Given the description of an element on the screen output the (x, y) to click on. 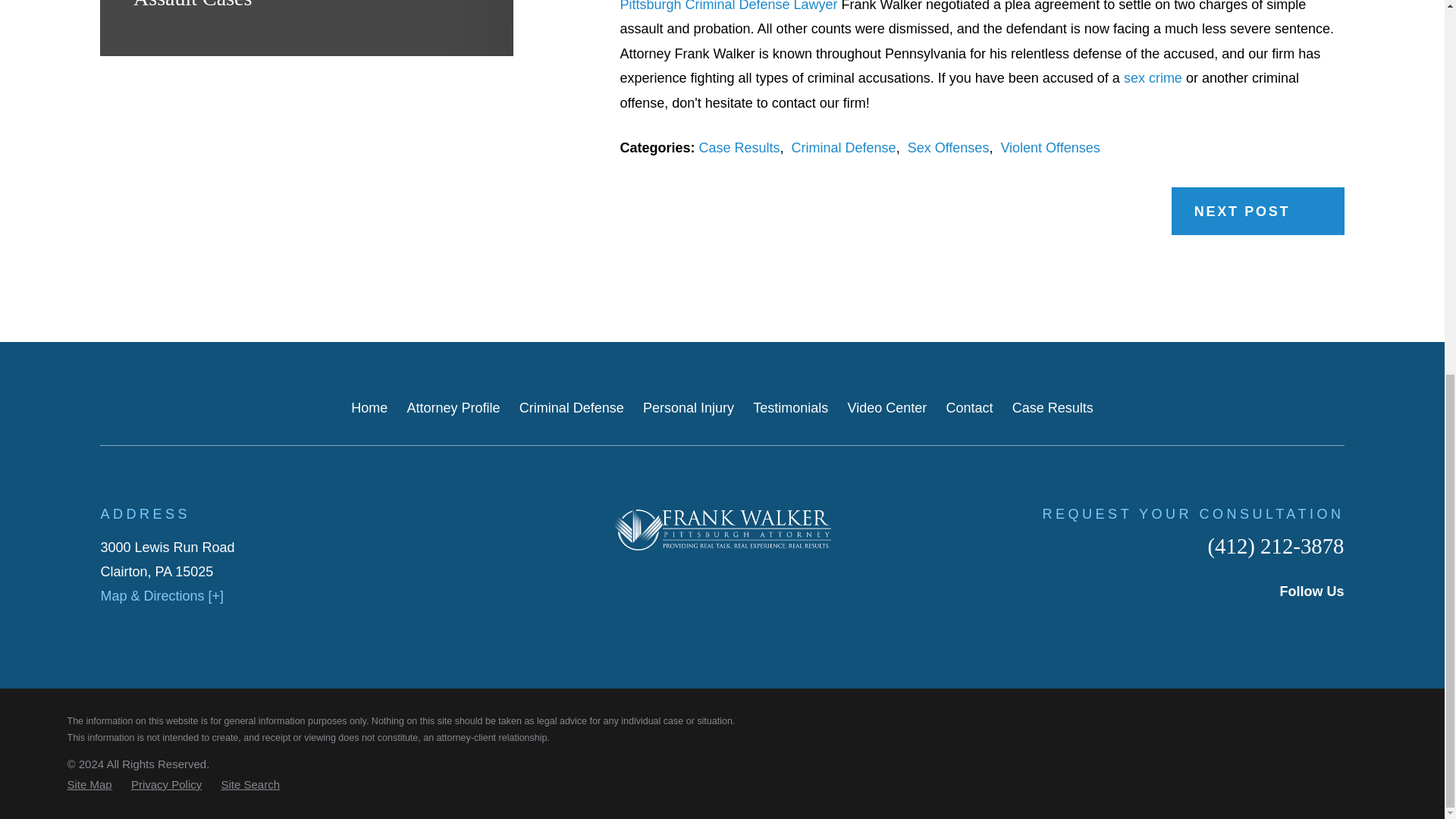
Home (721, 528)
Facebook (1236, 624)
